Given the description of an element on the screen output the (x, y) to click on. 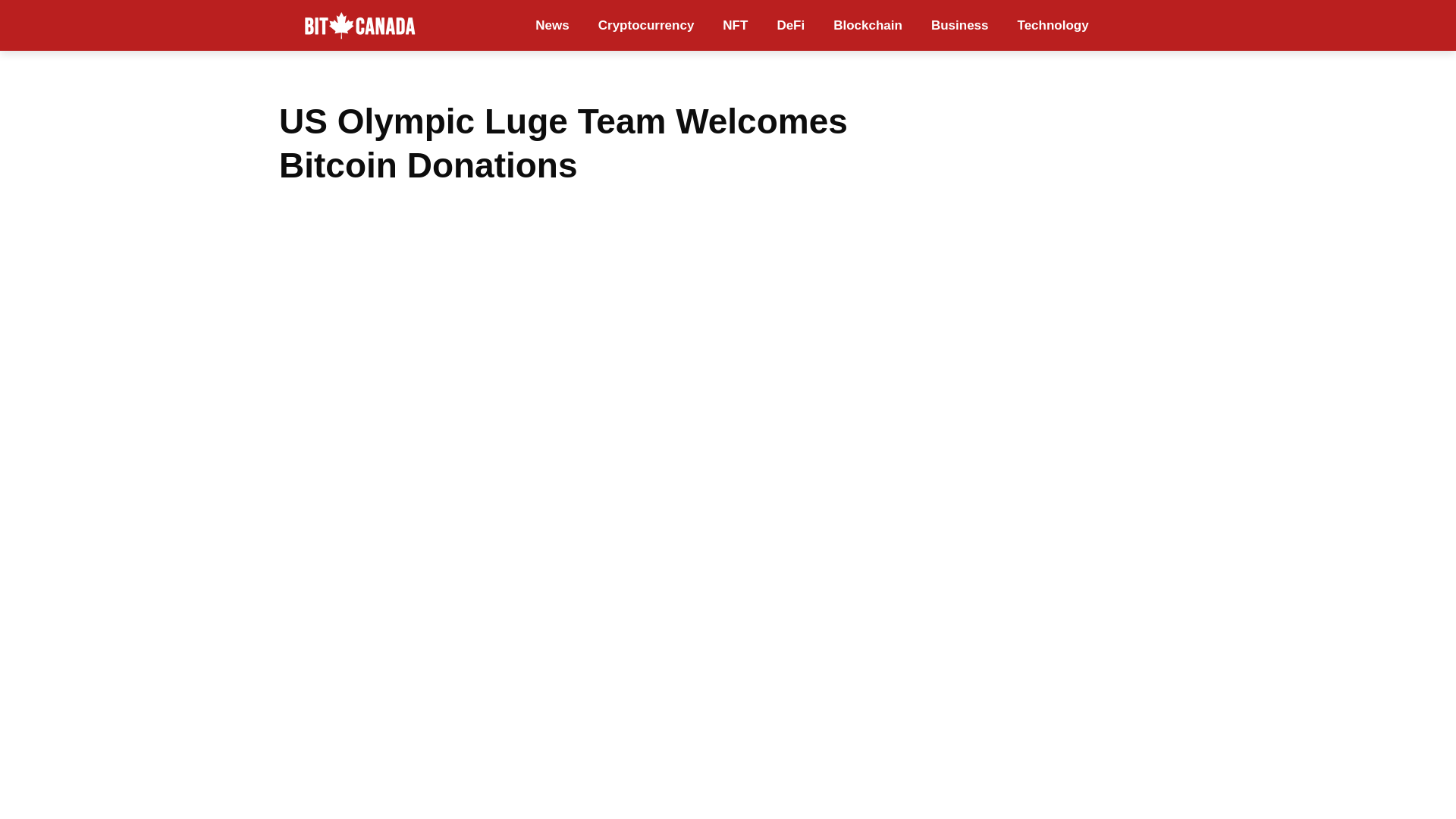
BitCanada (359, 25)
Blockchain (867, 25)
Cryptocurrency (646, 25)
News (552, 25)
NFT (734, 25)
Technology (1053, 25)
Business (960, 25)
DeFi (789, 25)
